Given the description of an element on the screen output the (x, y) to click on. 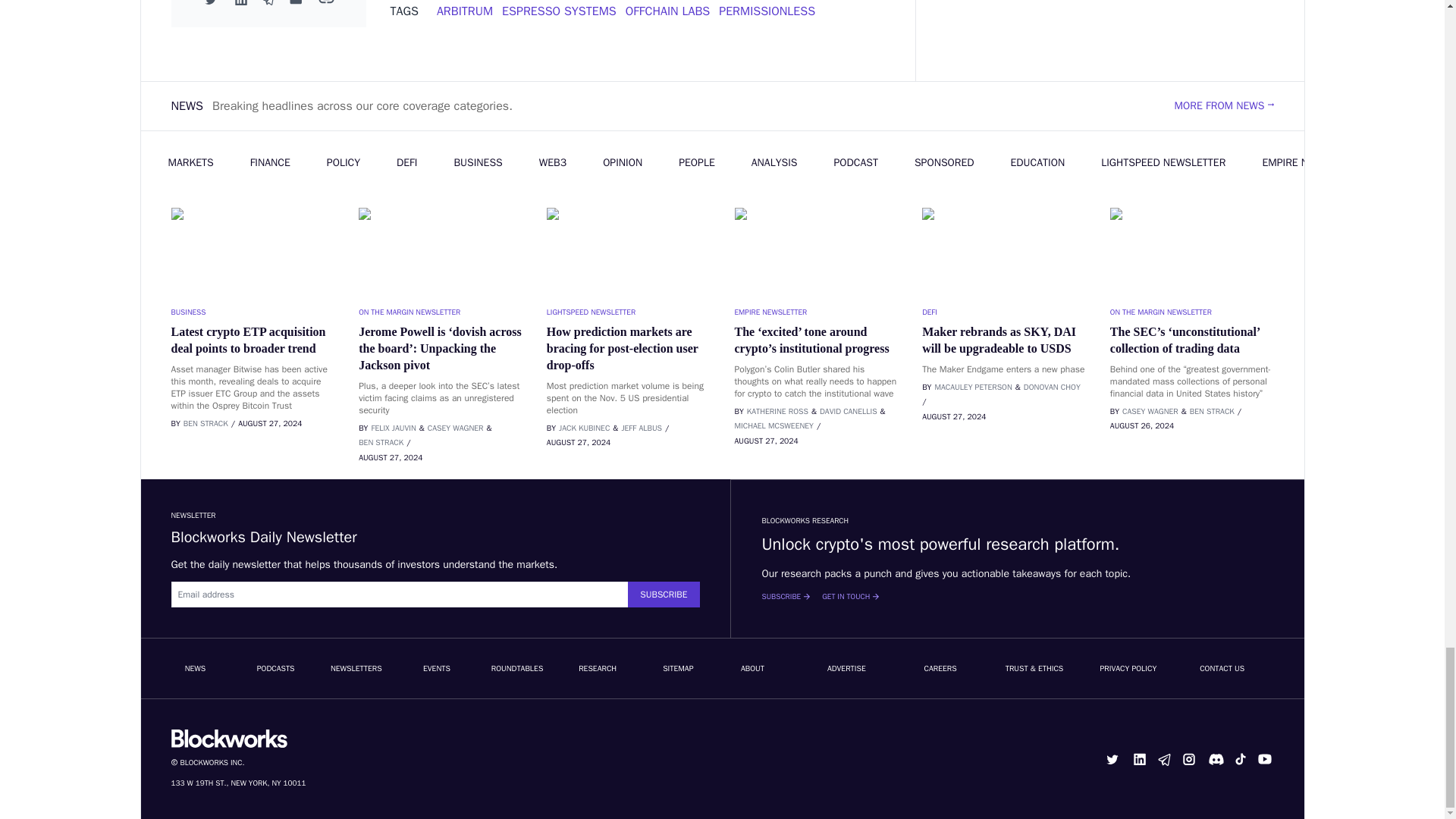
OFFCHAIN LABS (668, 11)
PERMISSIONLESS (767, 11)
EMPIRE NEWSLETTER (815, 311)
DEFI (1003, 311)
ARBITRUM (464, 11)
ON THE MARGIN NEWSLETTER (1191, 311)
ON THE MARGIN NEWSLETTER (440, 311)
LIGHTSPEED NEWSLETTER (628, 311)
ESPRESSO SYSTEMS (558, 11)
